Given the description of an element on the screen output the (x, y) to click on. 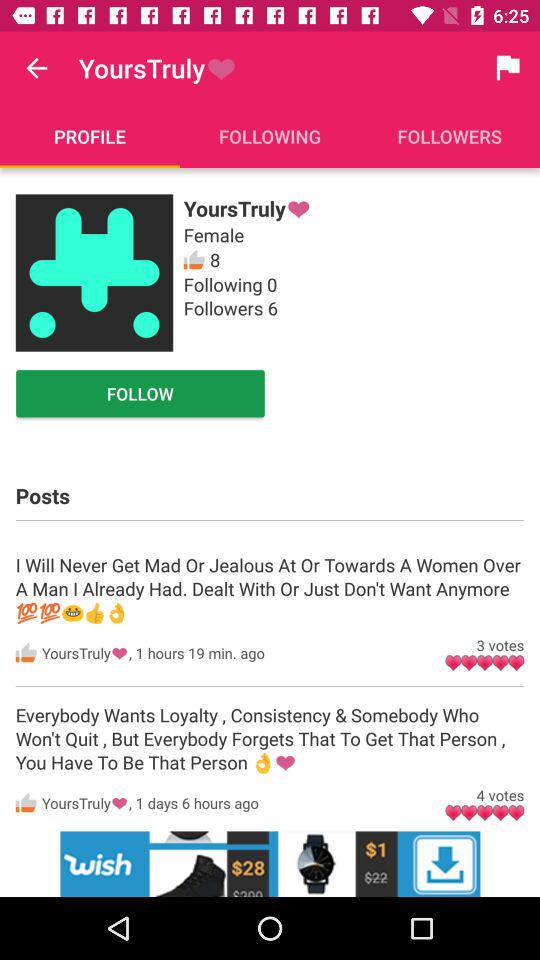
advertisement page (270, 864)
